Given the description of an element on the screen output the (x, y) to click on. 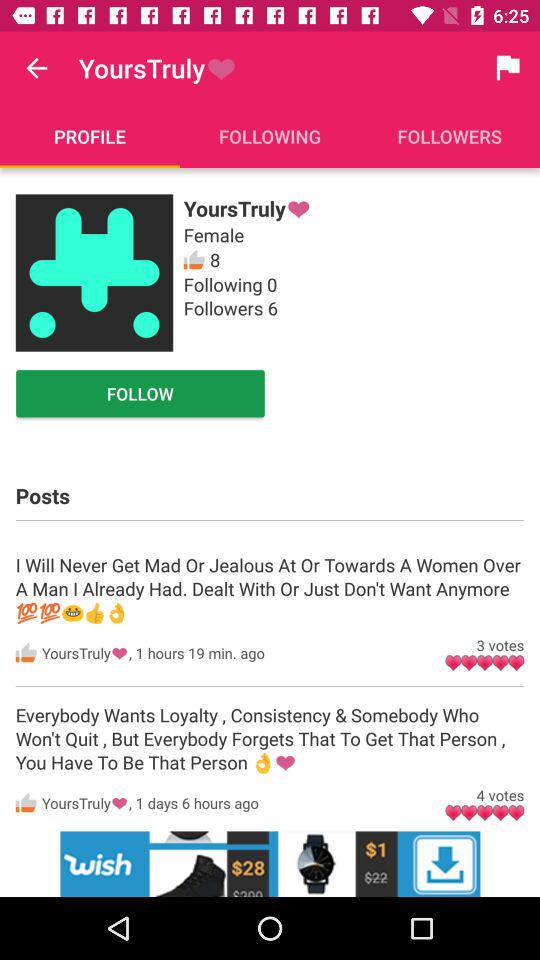
advertisement page (270, 864)
